Given the description of an element on the screen output the (x, y) to click on. 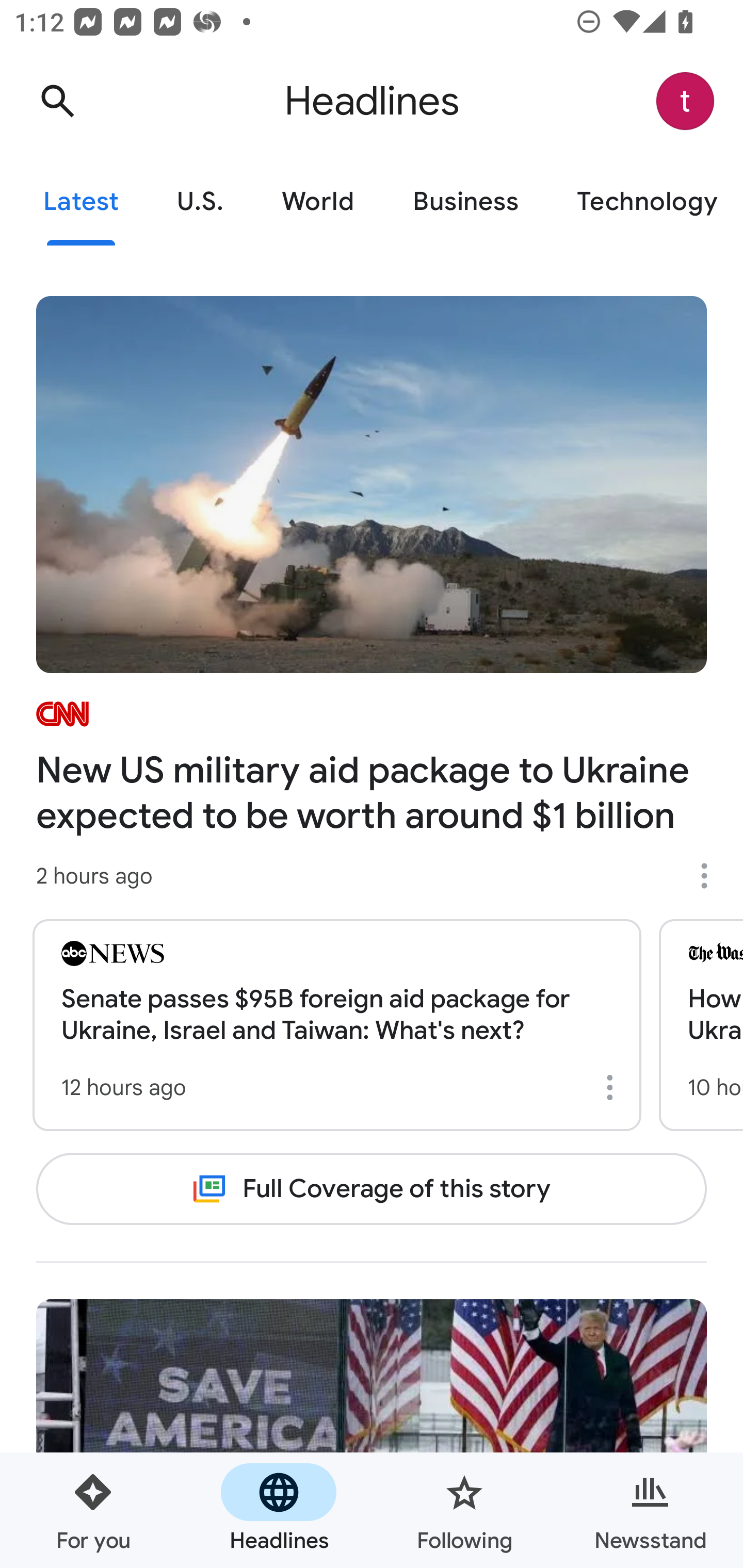
Search (57, 100)
U.S. (199, 202)
World (317, 202)
Business (465, 202)
Technology (645, 202)
More options (711, 875)
More options (613, 1086)
Full Coverage of this story (371, 1188)
For you (92, 1509)
Headlines (278, 1509)
Following (464, 1509)
Newsstand (650, 1509)
